Given the description of an element on the screen output the (x, y) to click on. 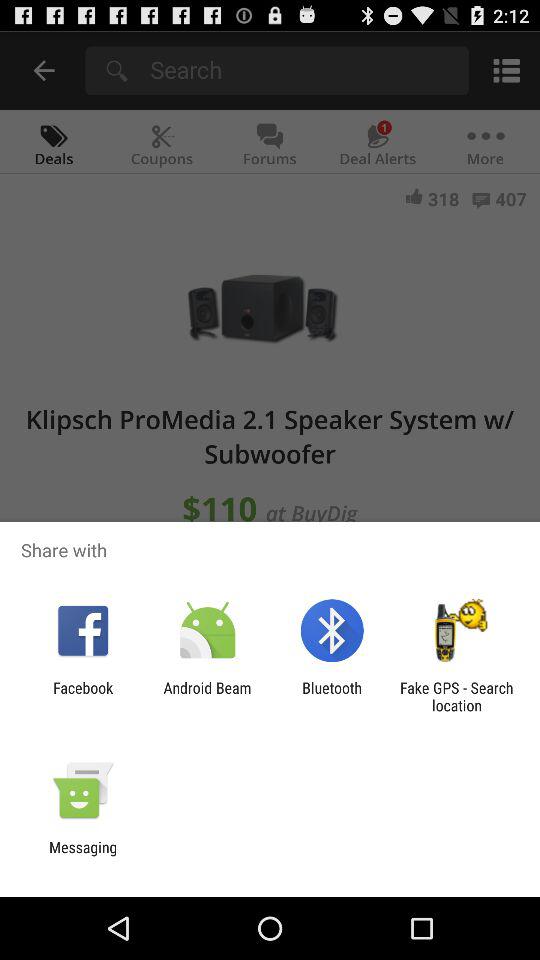
choose the item next to facebook item (207, 696)
